Given the description of an element on the screen output the (x, y) to click on. 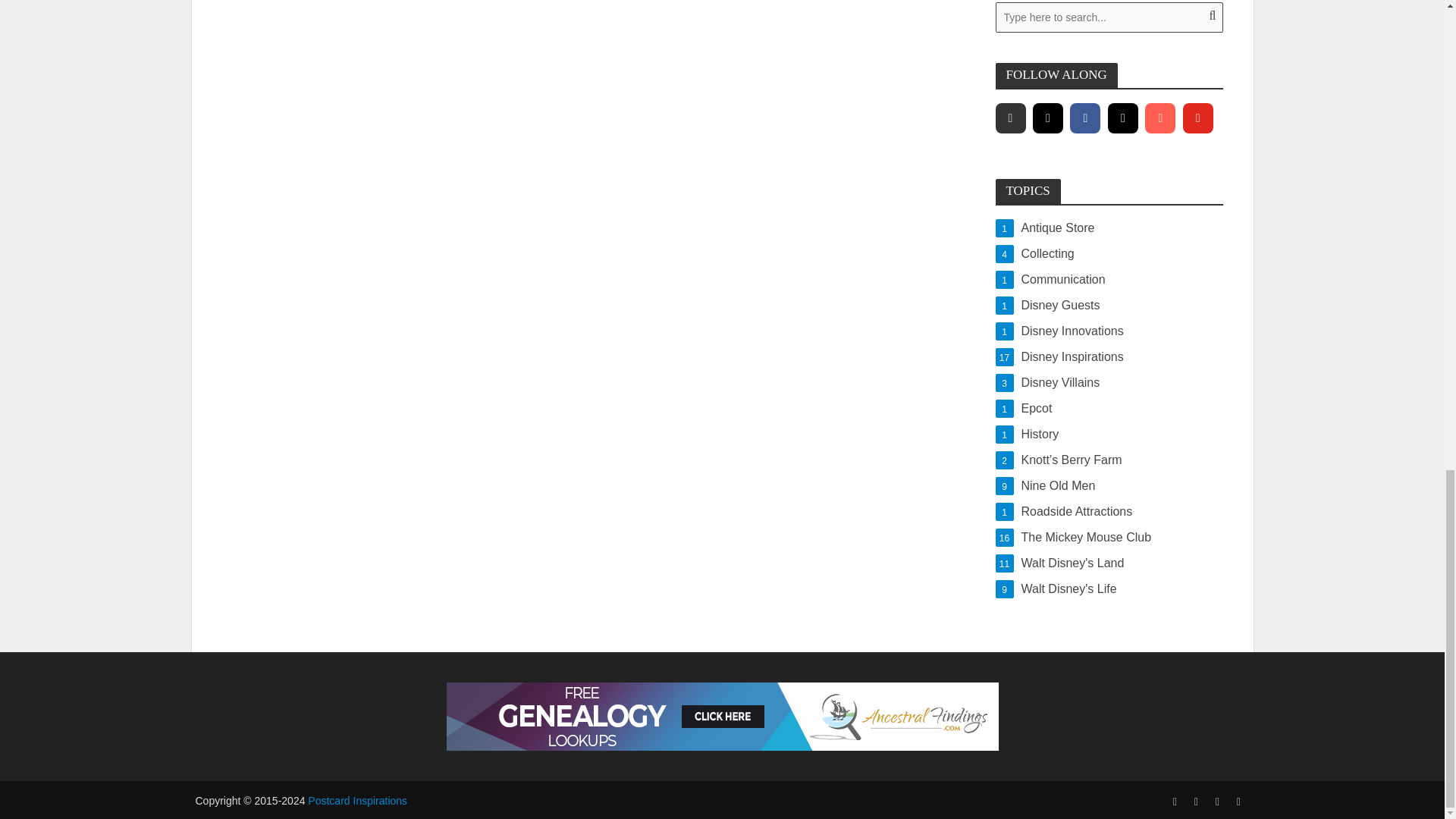
instagram (1047, 118)
youtube (1197, 118)
ebay (1108, 253)
Facebook (1108, 228)
Mail (1009, 118)
iTunes (1085, 118)
Instagram (1108, 280)
YouTube (1123, 118)
mail (1159, 118)
itunes (1047, 118)
ebay (1197, 118)
facebook (1123, 118)
